Given the description of an element on the screen output the (x, y) to click on. 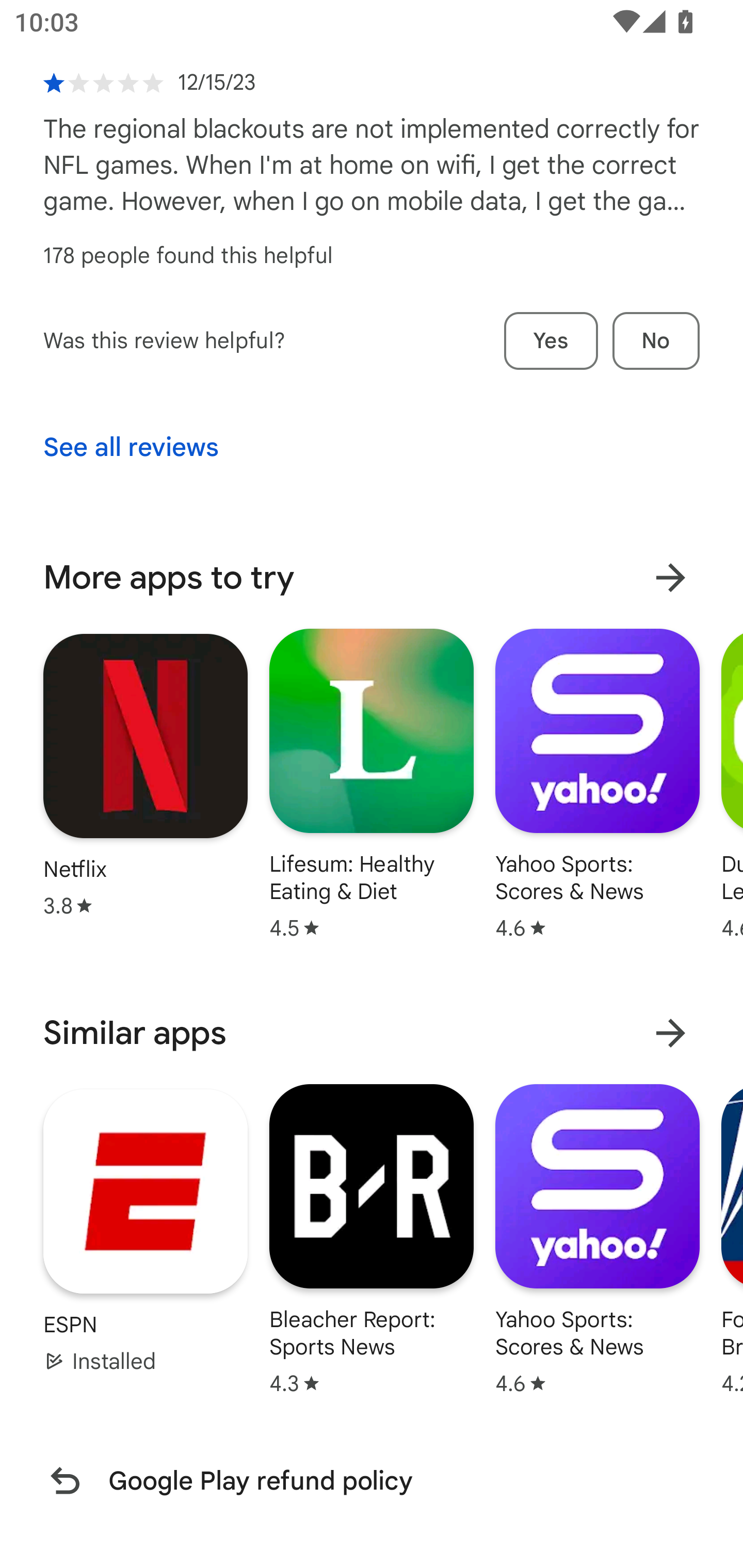
Yes (550, 340)
No (655, 340)
See all reviews (130, 447)
More apps to try More results for More apps to try (371, 577)
More results for More apps to try (670, 577)
Netflix
Star rating: 3.8
 (145, 774)
Lifesum: Healthy Eating & Diet
Star rating: 4.5
 (371, 783)
Yahoo Sports: Scores & News
Star rating: 4.6
 (597, 783)
Similar apps More results for Similar apps (371, 1033)
More results for Similar apps (670, 1033)
ESPN
Installed
 (145, 1230)
Bleacher Report: Sports News
Star rating: 4.3
 (371, 1238)
Yahoo Sports: Scores & News
Star rating: 4.6
 (597, 1238)
Google Play refund policy (371, 1480)
